Given the description of an element on the screen output the (x, y) to click on. 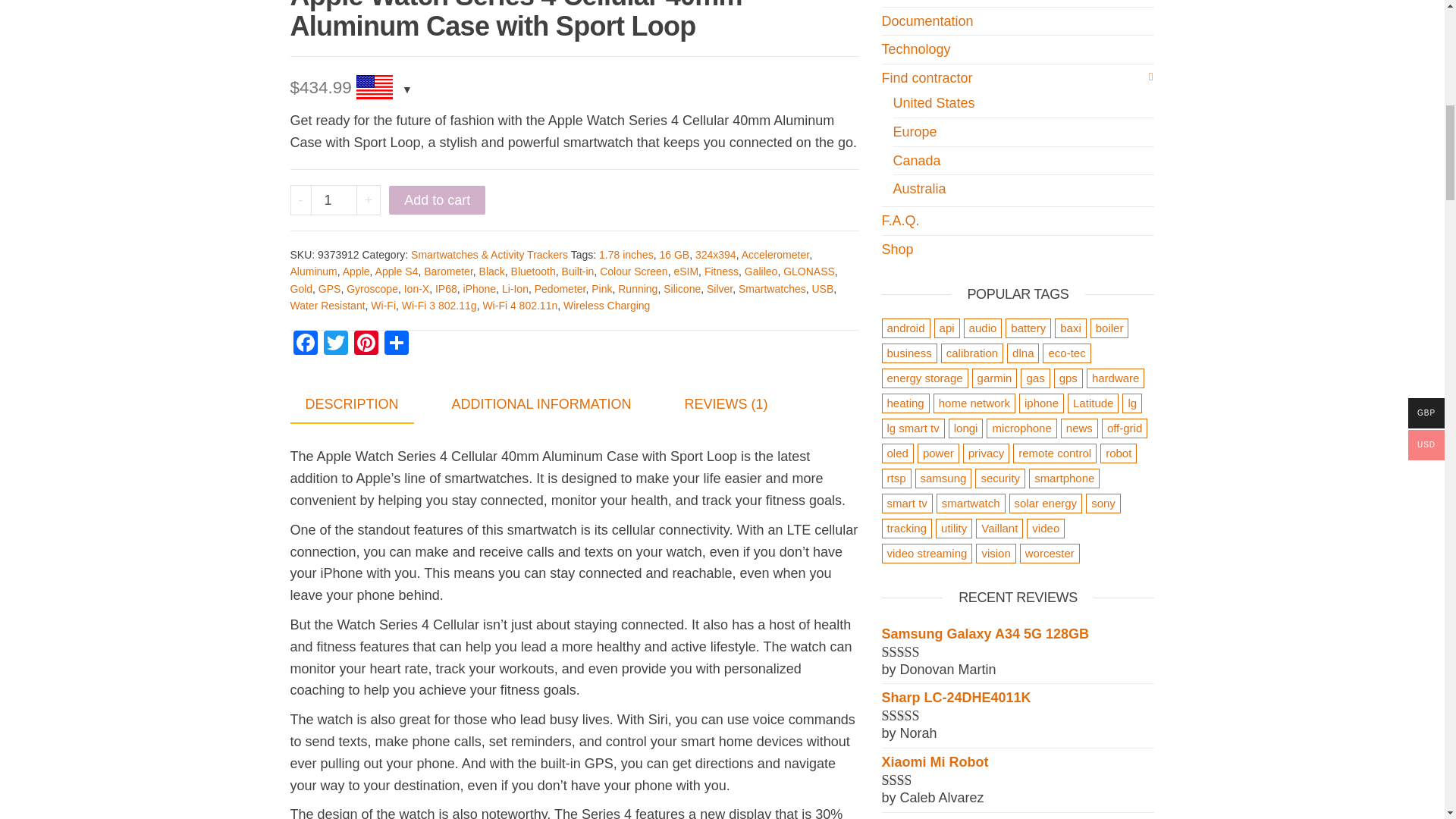
eSIM (685, 271)
Aluminum (312, 271)
Built-in (578, 271)
Apple S4 (397, 271)
GLONASS (808, 271)
Twitter (335, 344)
Accelerometer (775, 254)
Barometer (448, 271)
Apple (355, 271)
GPS (329, 288)
